Given the description of an element on the screen output the (x, y) to click on. 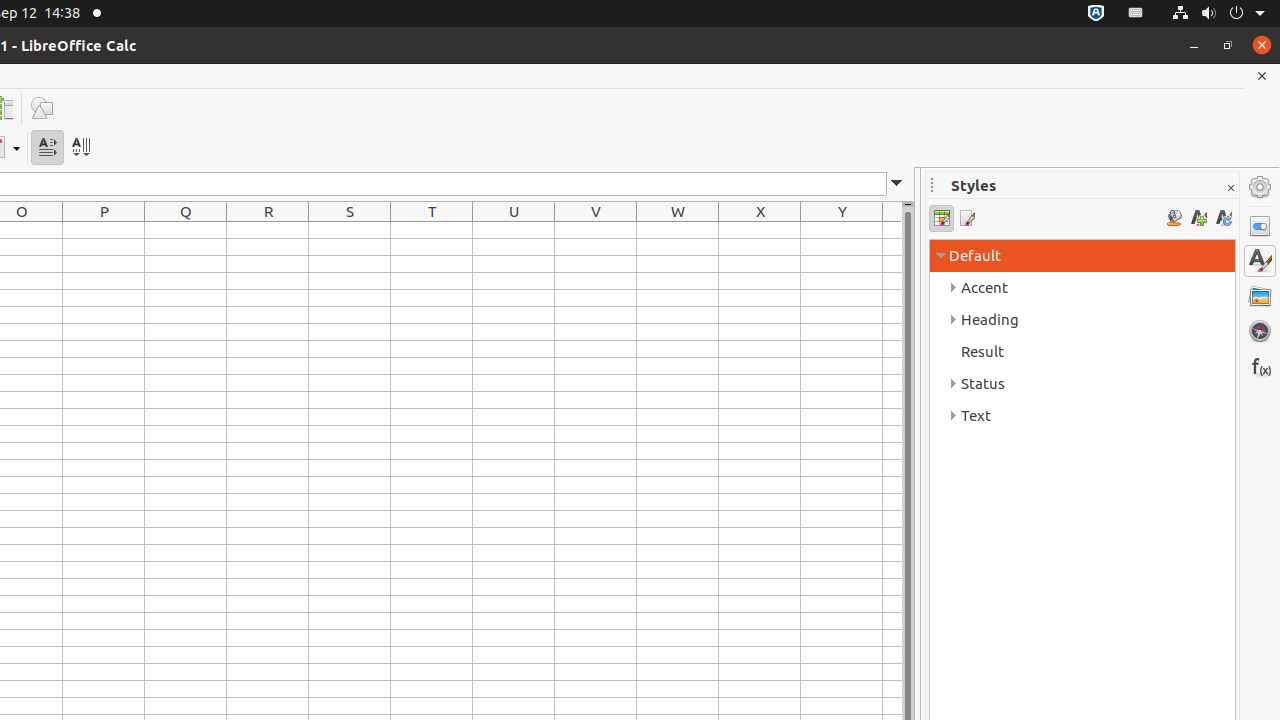
System Element type: menu (1218, 13)
Properties Element type: radio-button (1260, 226)
New Style from Selection Element type: push-button (1198, 218)
Z1 Element type: table-cell (892, 230)
:1.21/StatusNotifierItem Element type: menu (1136, 13)
